Given the description of an element on the screen output the (x, y) to click on. 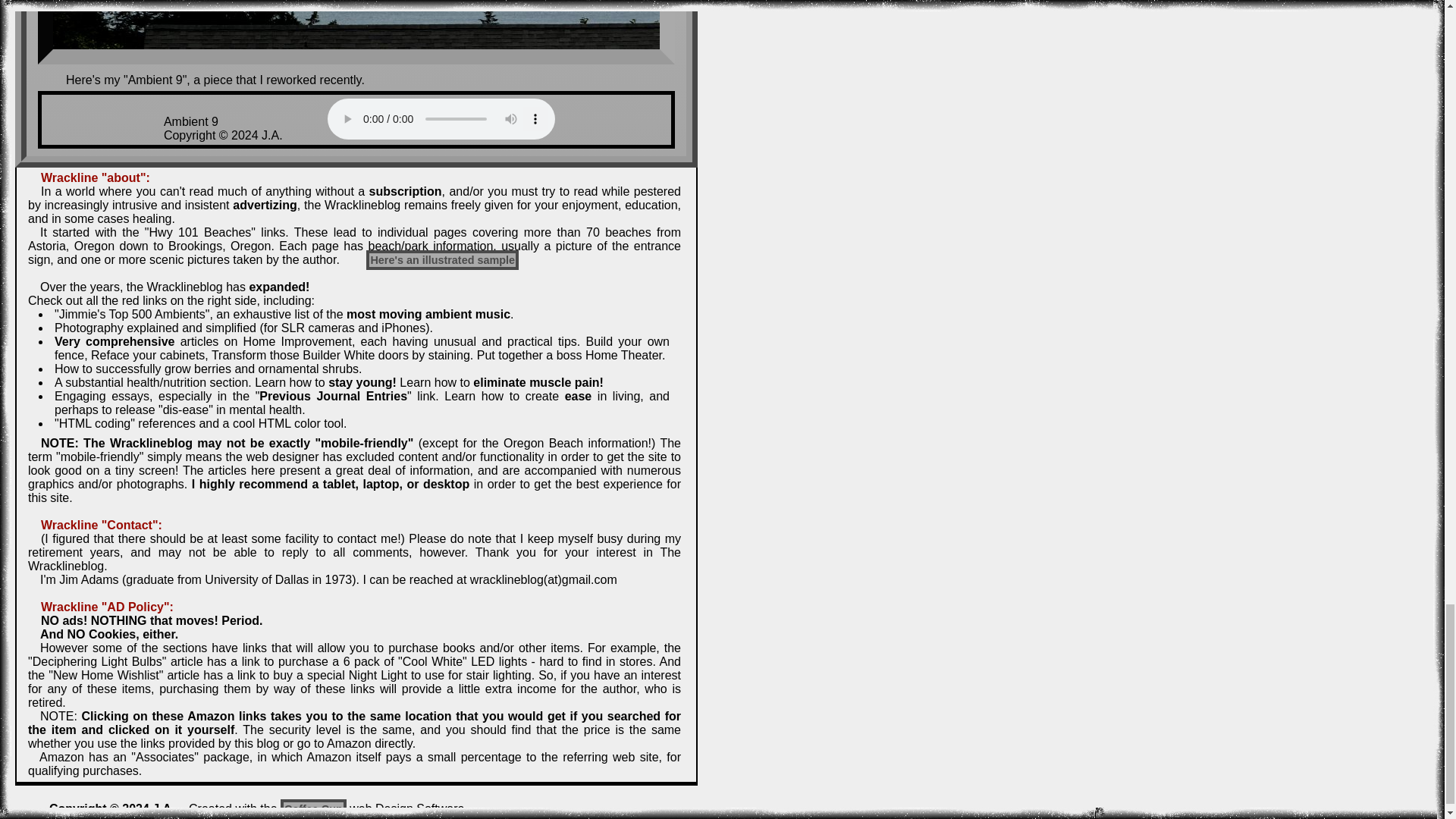
Here's an illustrated sample (442, 260)
